Given the description of an element on the screen output the (x, y) to click on. 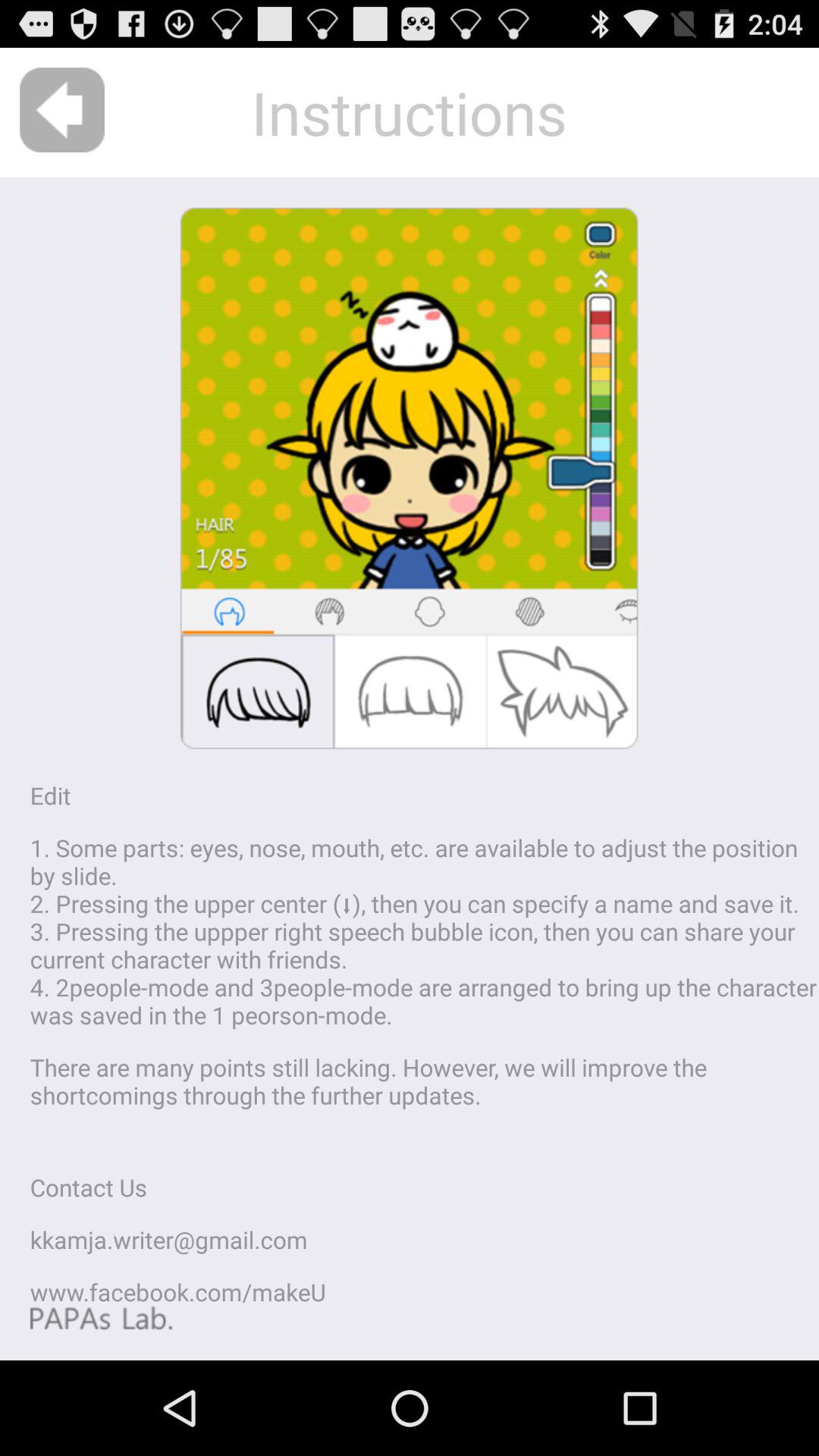
choose the app above www facebook com icon (168, 1239)
